Given the description of an element on the screen output the (x, y) to click on. 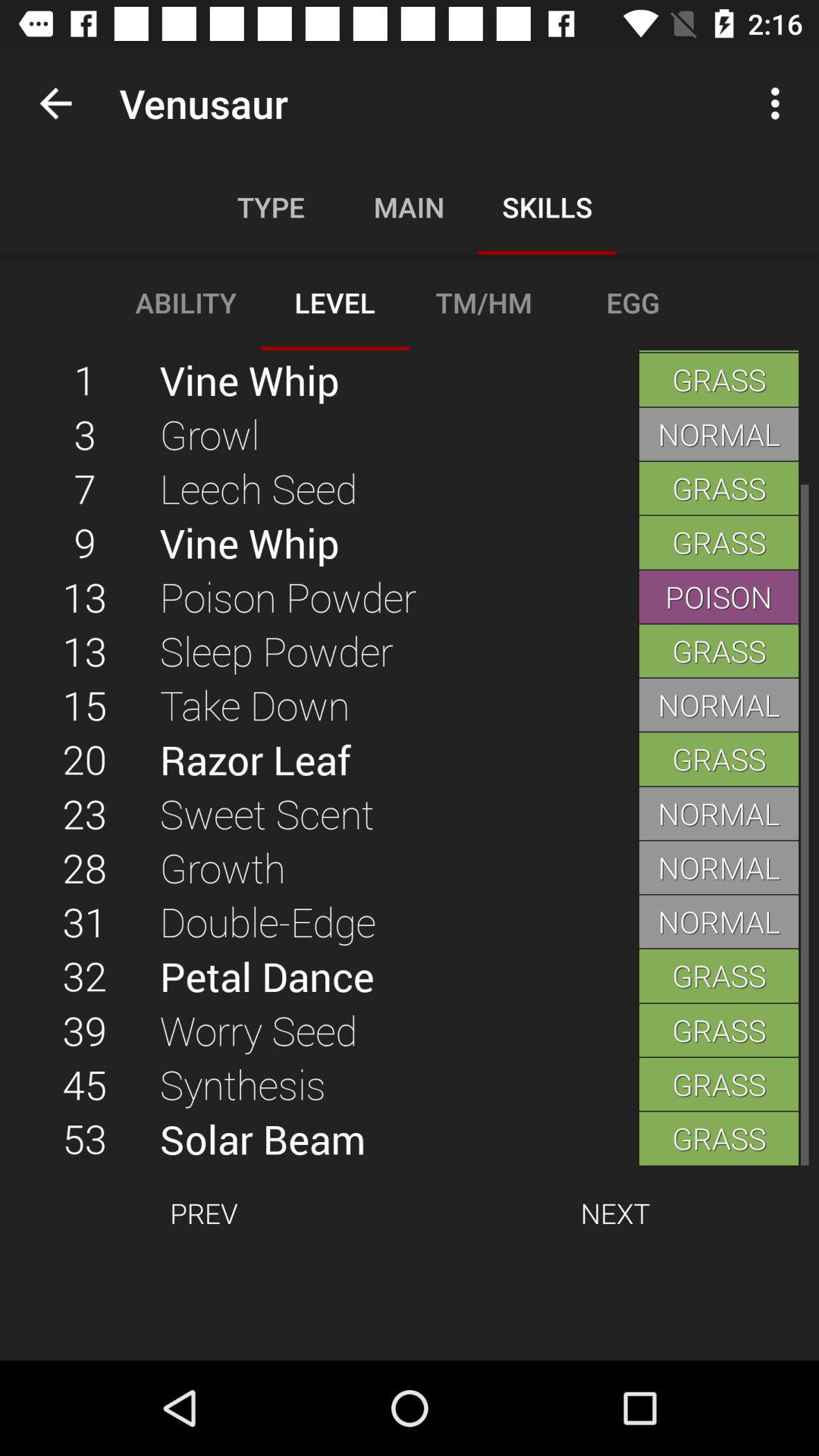
open the next icon (615, 1212)
